Given the description of an element on the screen output the (x, y) to click on. 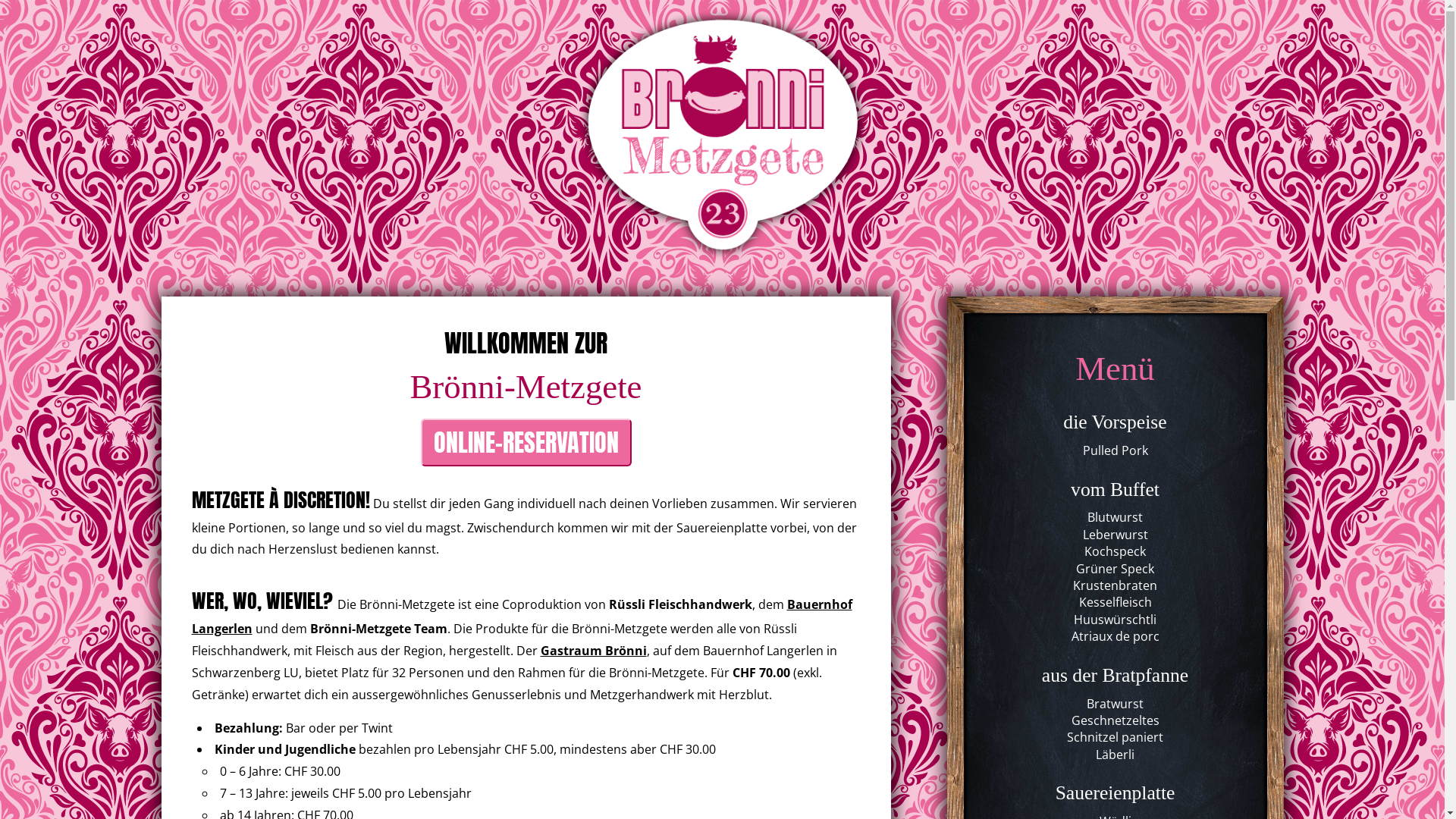
Bauernhof Langerlen Element type: text (521, 616)
ONLINE-RESERVATION Element type: text (525, 442)
